Given the description of an element on the screen output the (x, y) to click on. 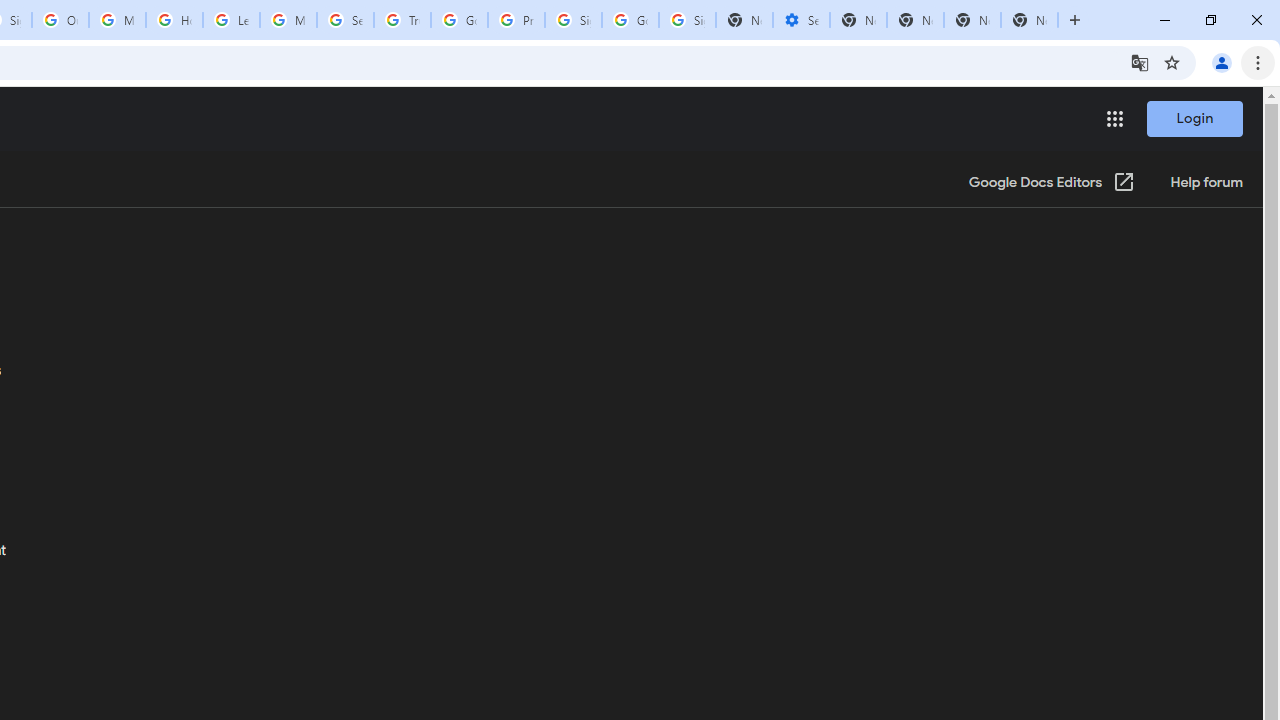
Google Docs Editors (Opens in new window) (1051, 183)
Help forum (1205, 183)
Login (1194, 118)
Google Ads - Sign in (459, 20)
Google Cybersecurity Innovations - Google Safety Center (630, 20)
Settings - Performance (801, 20)
Trusted Information and Content - Google Safety Center (402, 20)
